Given the description of an element on the screen output the (x, y) to click on. 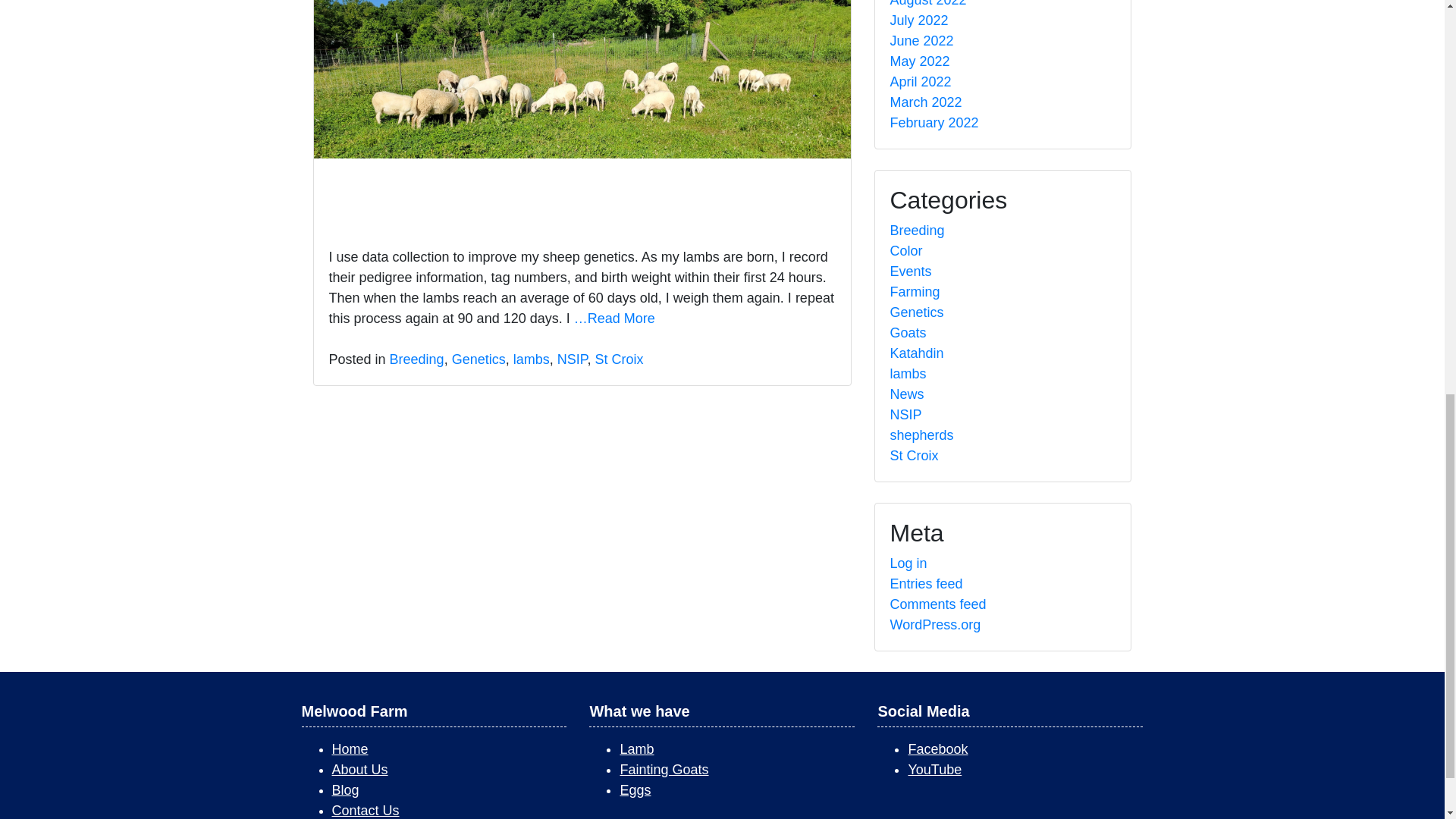
Breeding (417, 359)
lambs (531, 359)
Genetics (478, 359)
St Croix (618, 359)
NSIP (572, 359)
